Given the description of an element on the screen output the (x, y) to click on. 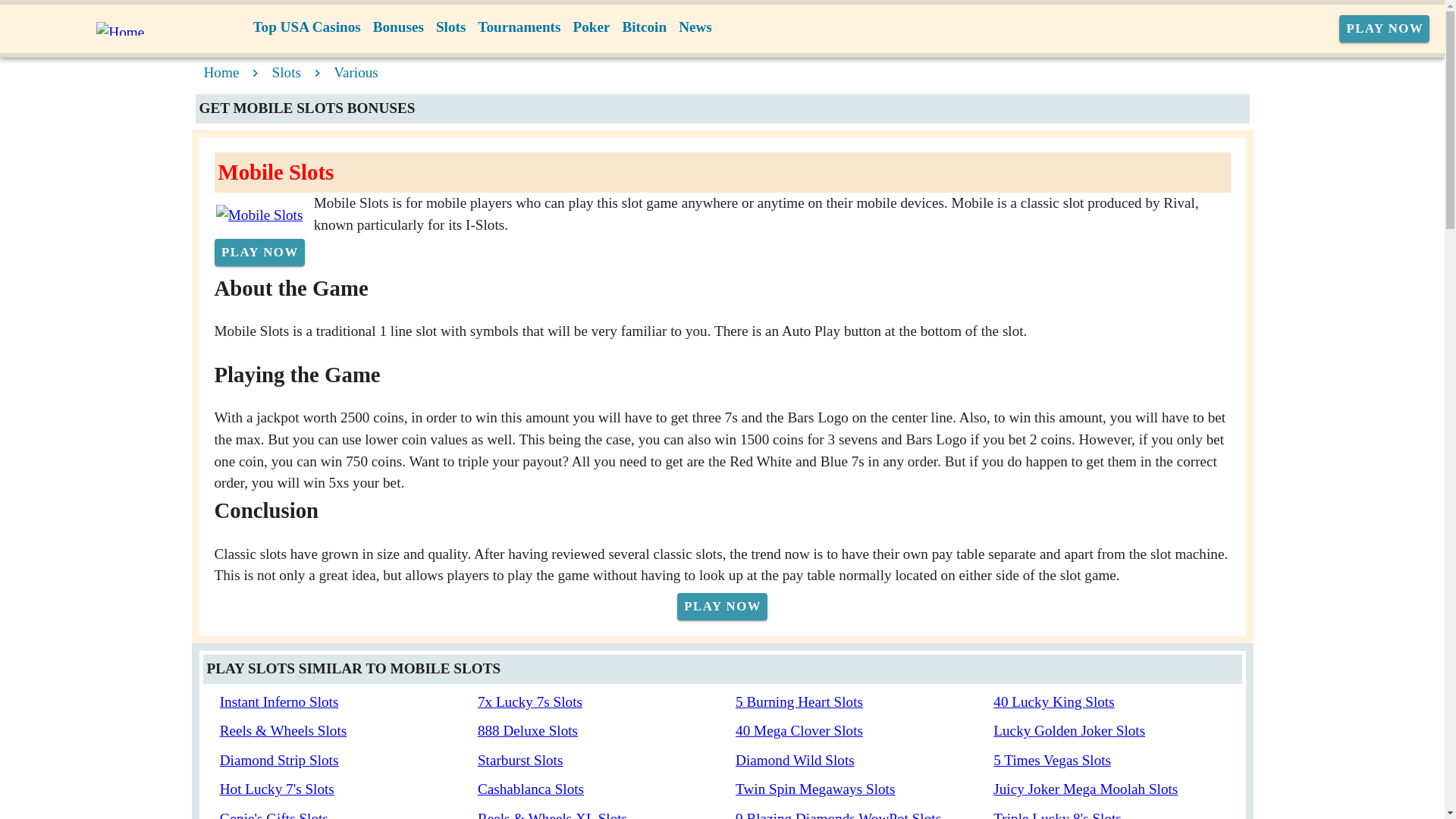
Genie's Gifts Slots (274, 814)
Bitcoin (643, 27)
Lucky Golden Joker Slots (1068, 730)
Top USA Casinos (306, 27)
7x Lucky 7s Slots (529, 701)
Diamond Wild Slots (794, 760)
PLAY NOW (259, 252)
Various (355, 72)
Instant Inferno Slots (279, 701)
40 Mega Clover Slots (799, 730)
